Given the description of an element on the screen output the (x, y) to click on. 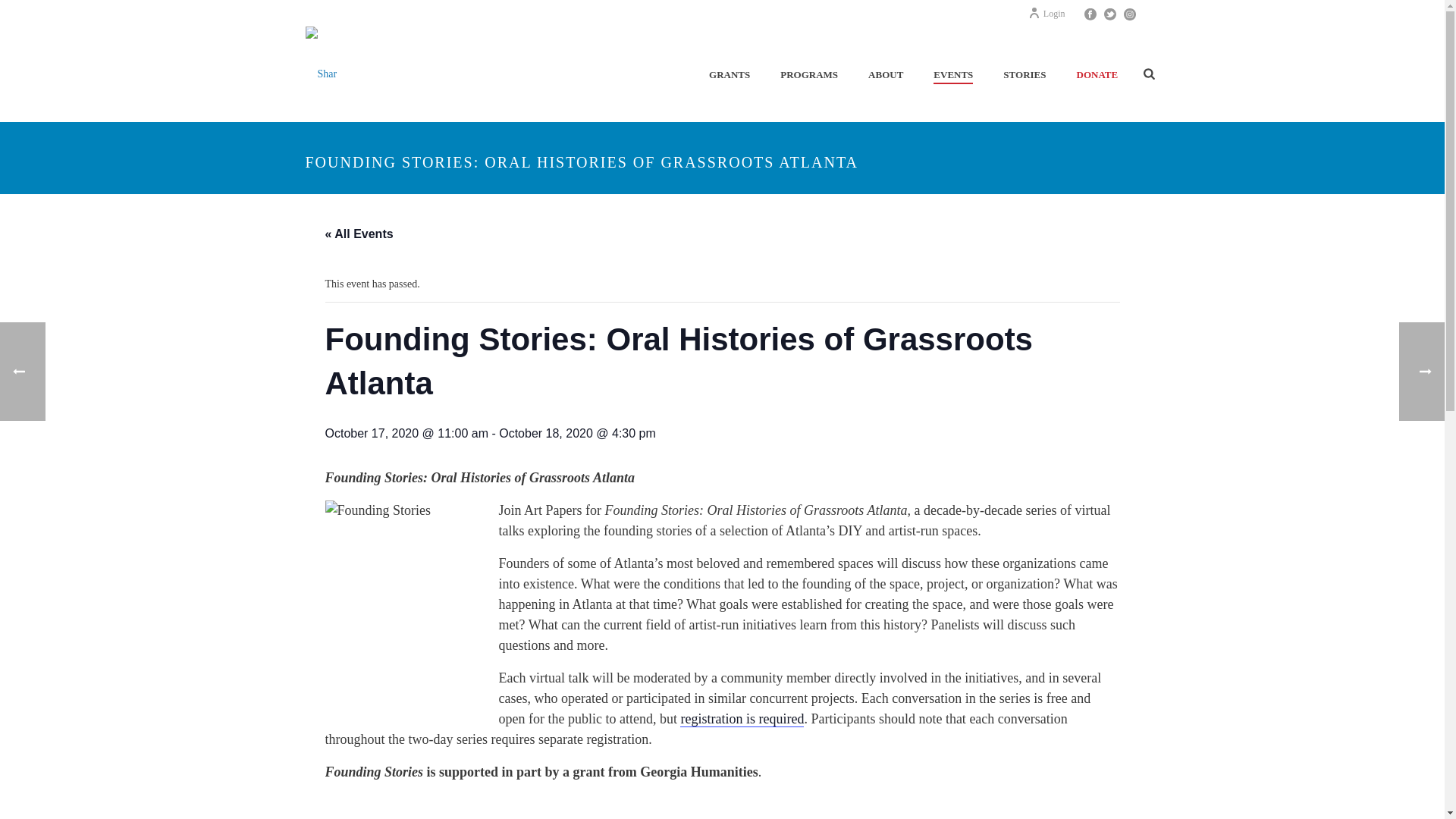
STORIES (1024, 75)
STORIES (1024, 75)
DONATE (1097, 75)
GRANTS (729, 75)
GRANTS (729, 75)
Sharing stories that move us and make us (320, 74)
DONATE (1097, 75)
ABOUT (885, 75)
PROGRAMS (809, 75)
Login (1046, 13)
ABOUT (885, 75)
EVENTS (953, 75)
EVENTS (953, 75)
PROGRAMS (809, 75)
